Given the description of an element on the screen output the (x, y) to click on. 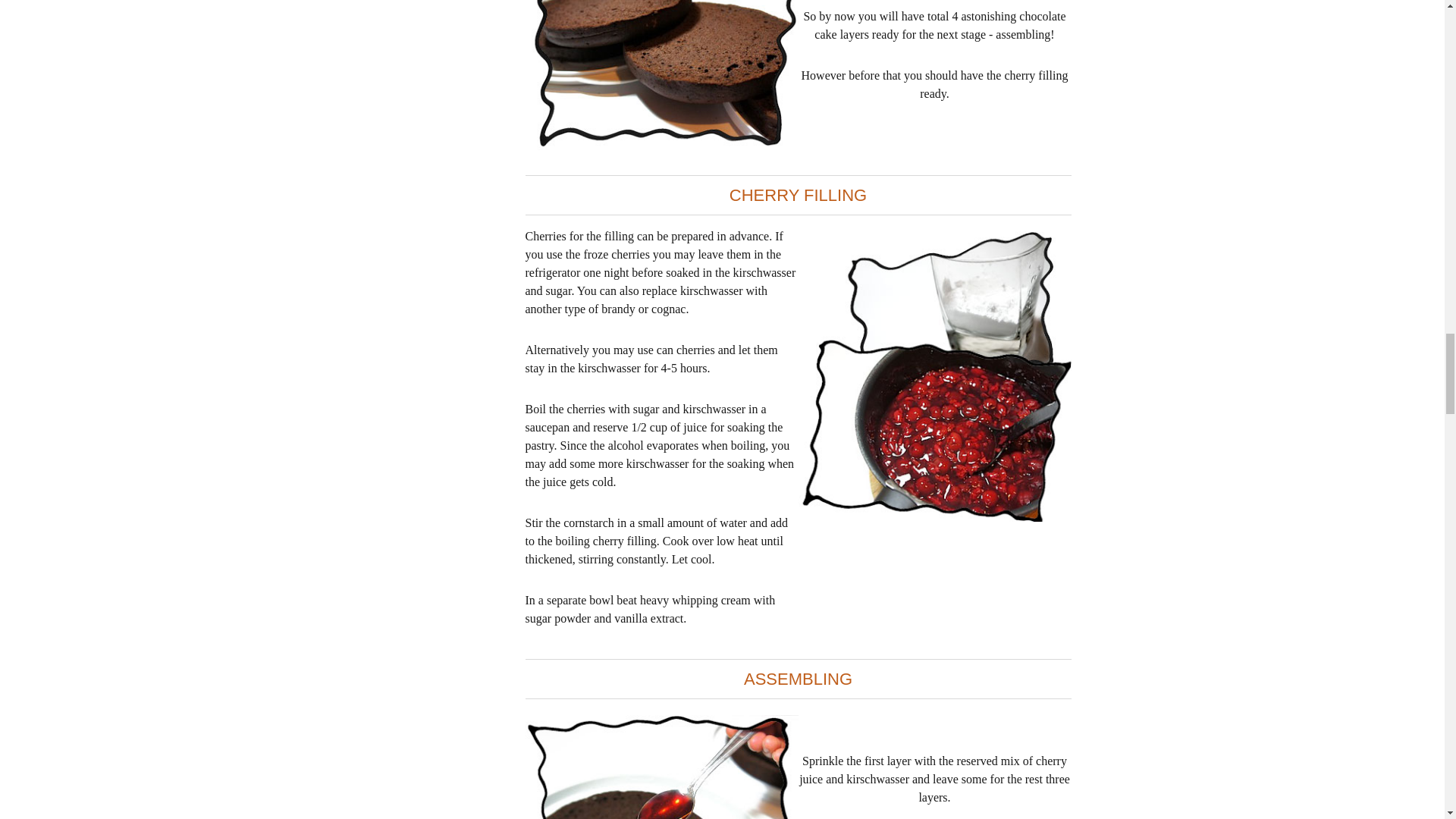
Chocolate cake layers (660, 74)
Ingredients for cherry filling (933, 375)
